Given the description of an element on the screen output the (x, y) to click on. 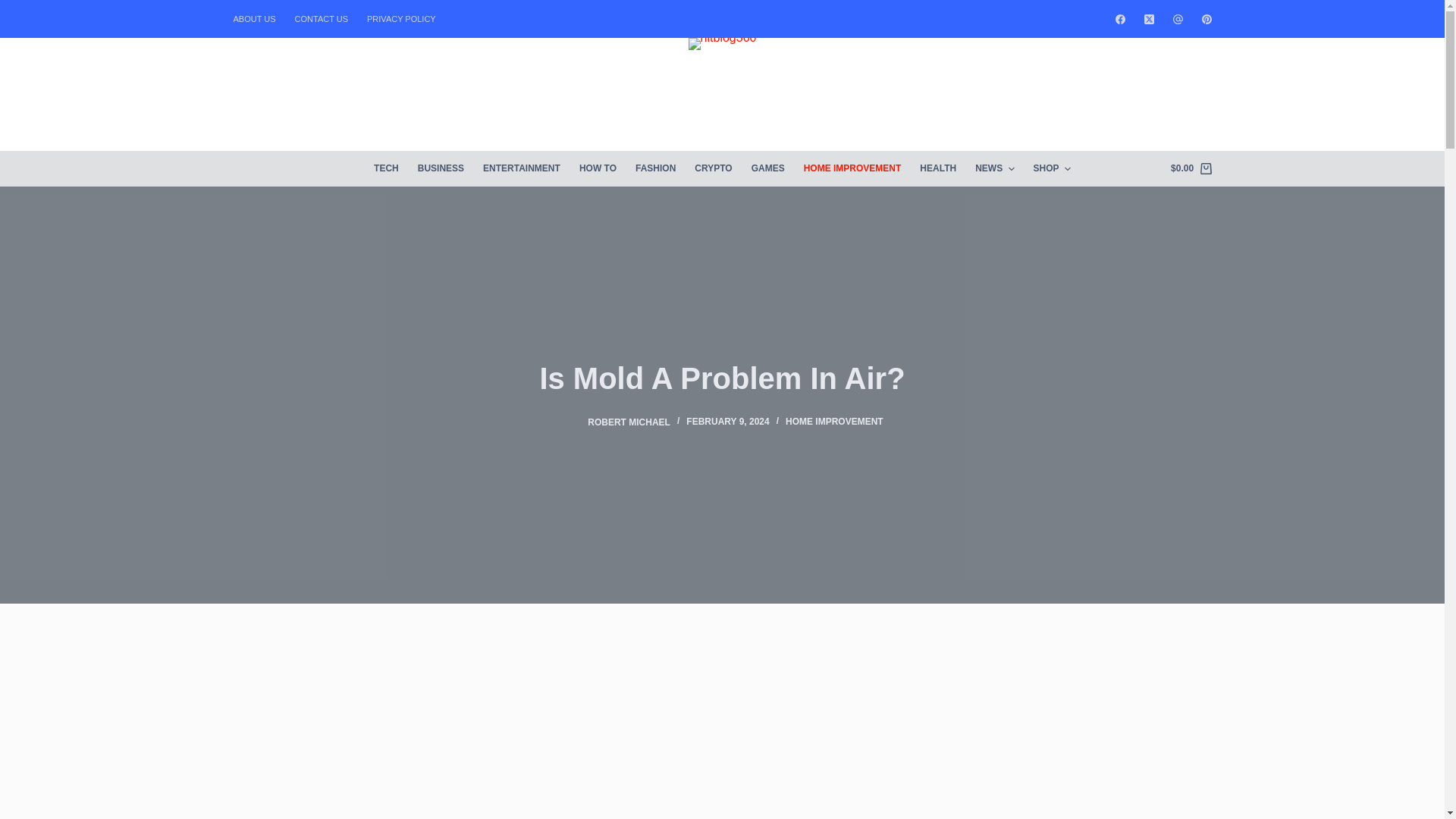
Is Mold A Problem In Air? (722, 377)
BUSINESS (440, 168)
Posts by Robert Michael (628, 421)
NEWS (994, 168)
SHOP (1046, 168)
HOME IMPROVEMENT (852, 168)
HEALTH (938, 168)
CRYPTO (713, 168)
Skip to content (15, 7)
GAMES (767, 168)
PRIVACY POLICY (396, 18)
FASHION (655, 168)
ABOUT US (258, 18)
CONTACT US (321, 18)
TECH (390, 168)
